Given the description of an element on the screen output the (x, y) to click on. 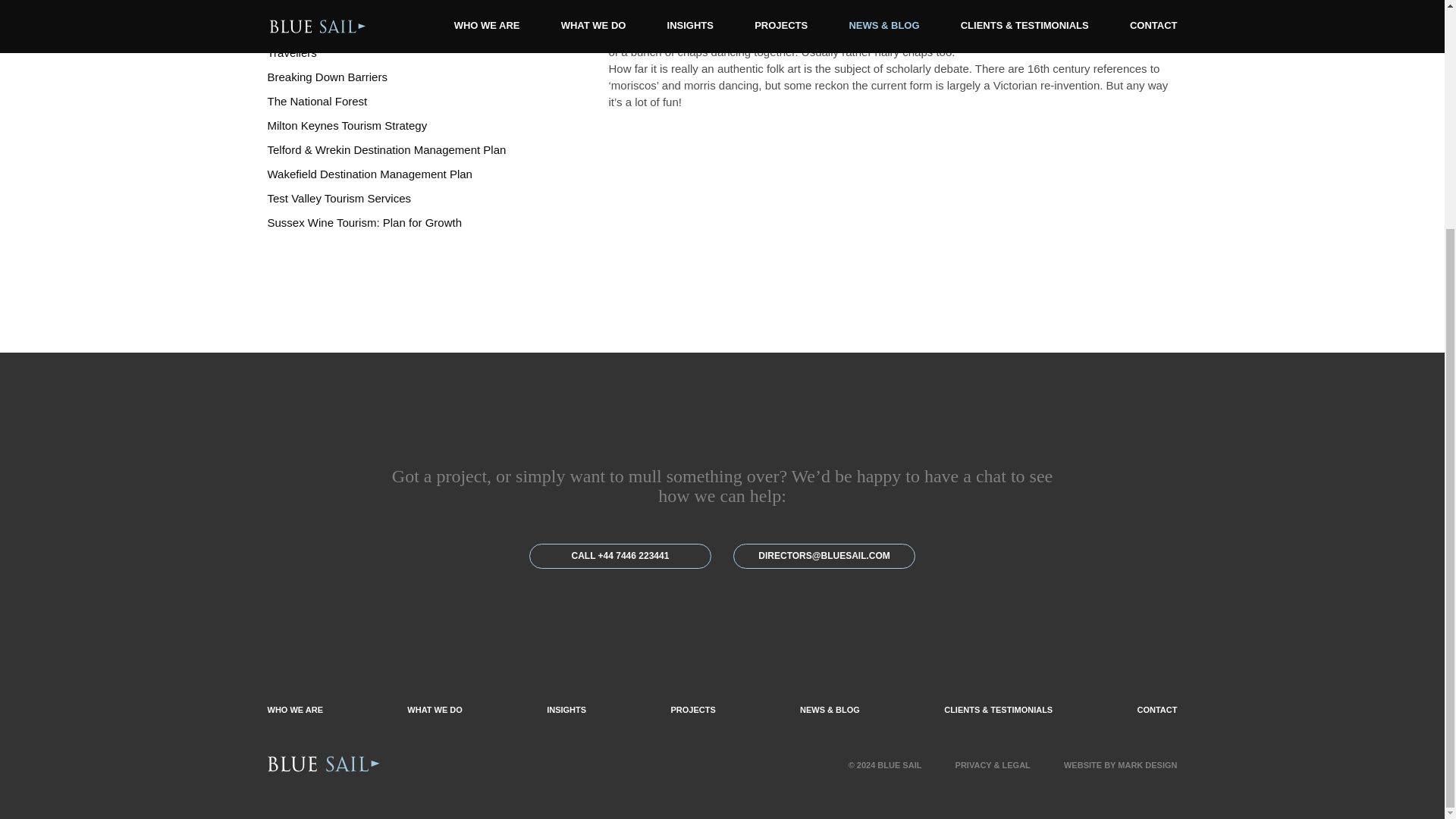
Test Valley Tourism Services (338, 197)
WHAT WE DO (435, 709)
Sussex Wine Tourism: Plan for Growth (363, 222)
Breaking Down Barriers (326, 76)
INSIGHTS (566, 709)
The National Forest (316, 101)
WEBSITE BY MARK DESIGN (1120, 764)
PROJECTS (691, 709)
Milton Keynes Tourism Strategy (346, 124)
WHO WE ARE (294, 709)
Wakefield Destination Management Plan (368, 173)
CONTACT (1157, 709)
